Given the description of an element on the screen output the (x, y) to click on. 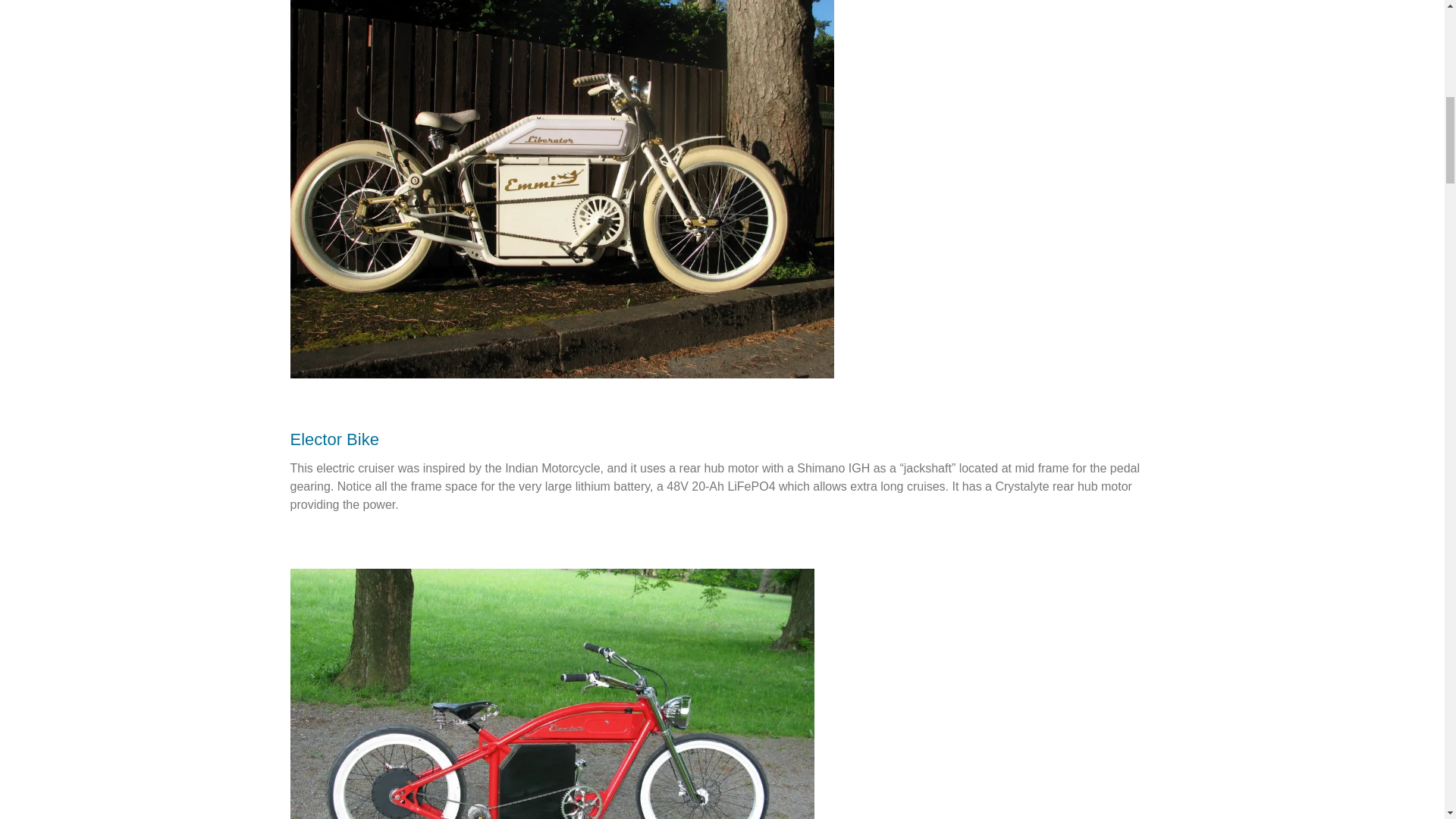
Elector Bike (333, 438)
